Given the description of an element on the screen output the (x, y) to click on. 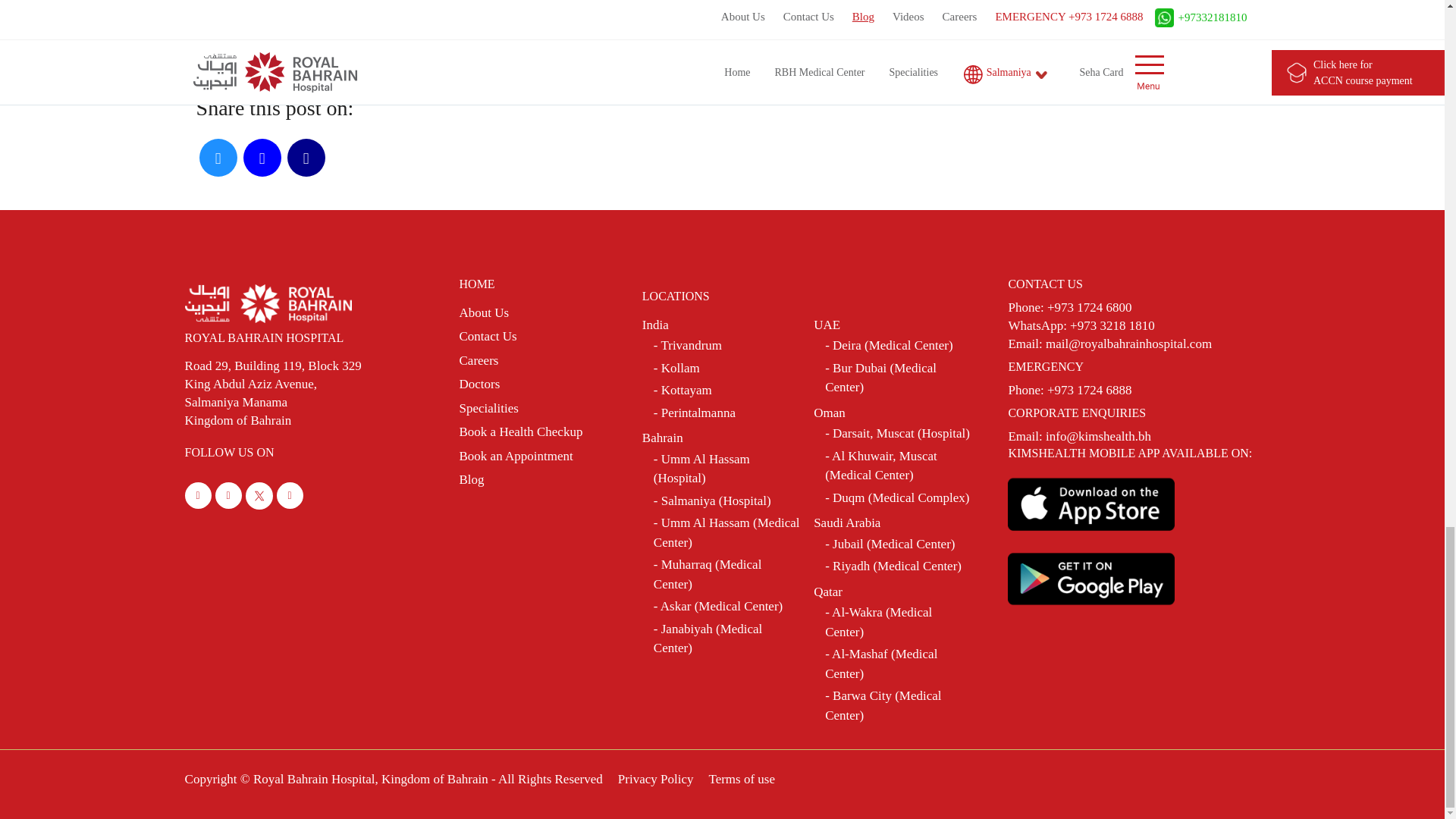
Share on Twitter (218, 157)
Share on Facebook (305, 157)
Share on LinkedIn (262, 157)
